Given the description of an element on the screen output the (x, y) to click on. 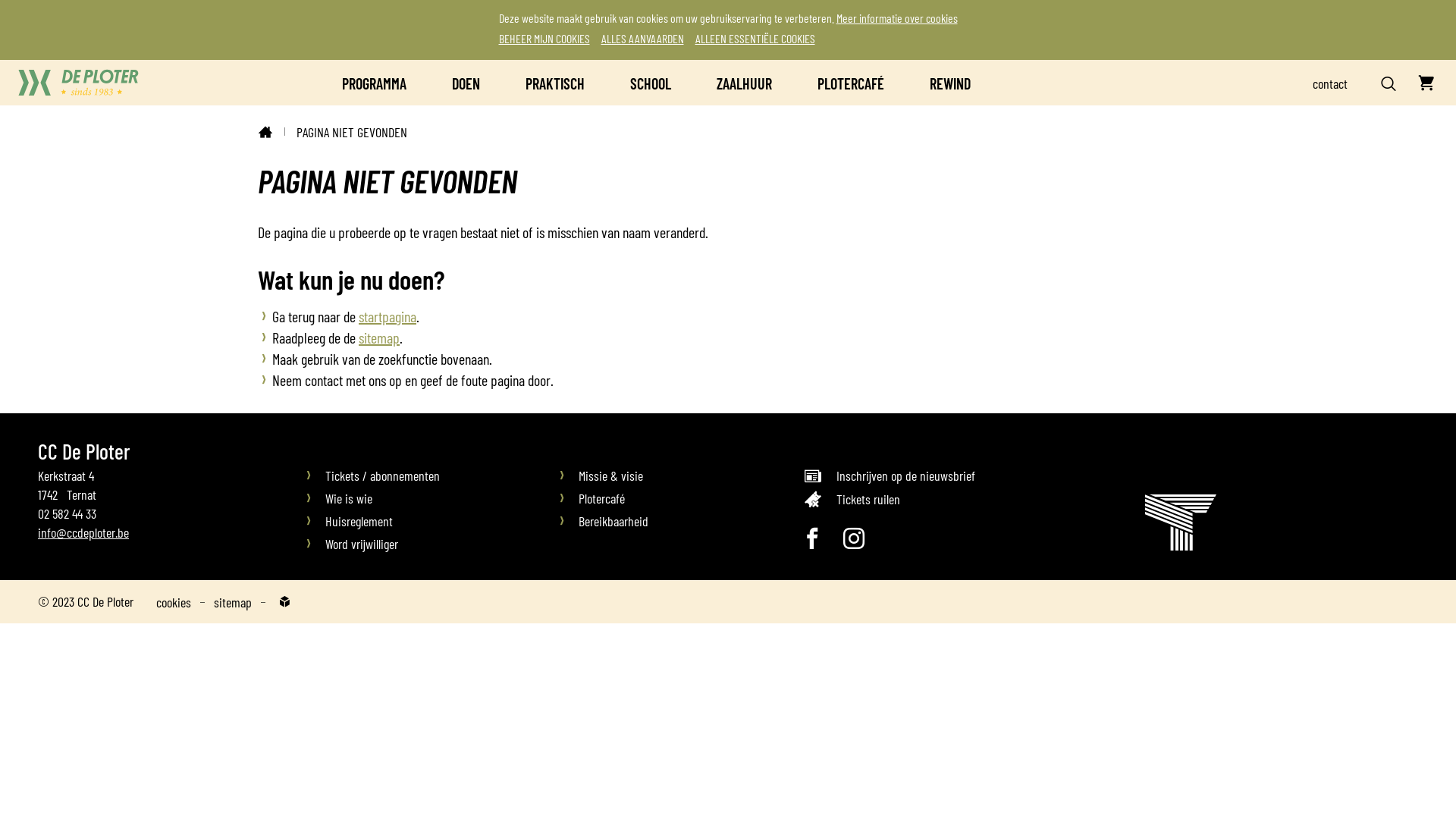
startpagina Element type: text (387, 315)
ZOEKEN Element type: text (1389, 82)
info@ccdeploter.be Element type: text (82, 532)
PROGRAMMA Element type: text (374, 82)
Huisreglement Element type: text (428, 520)
DOEN Element type: text (465, 82)
02 582 44 33 Element type: text (66, 513)
PRAKTISCH Element type: text (554, 82)
ZAALHUUR Element type: text (743, 82)
Word vrijwilliger Element type: text (555, 543)
REWIND Element type: text (949, 82)
Inschrijven op de nieuwsbrief Element type: text (973, 477)
Tickets / abonnementen Element type: text (428, 475)
ALLES AANVAARDEN Element type: text (646, 37)
contact Element type: text (1329, 82)
Meer informatie over cookies Element type: text (896, 17)
Tickets ruilen Element type: text (973, 501)
SCHOOL Element type: text (650, 82)
Missie & visie Element type: text (682, 475)
Volg ons op Facebook Element type: text (812, 538)
Volg ons op Instagram Element type: text (853, 538)
sitemap Element type: text (232, 602)
CC De Ploter Element type: text (77, 82)
cookies Element type: text (173, 602)
BEHEER MIJN COOKIES Element type: text (548, 37)
sitemap Element type: text (378, 337)
Bereikbaarheid Element type: text (682, 520)
Wie is wie Element type: text (428, 498)
HOME Element type: text (265, 131)
